Given the description of an element on the screen output the (x, y) to click on. 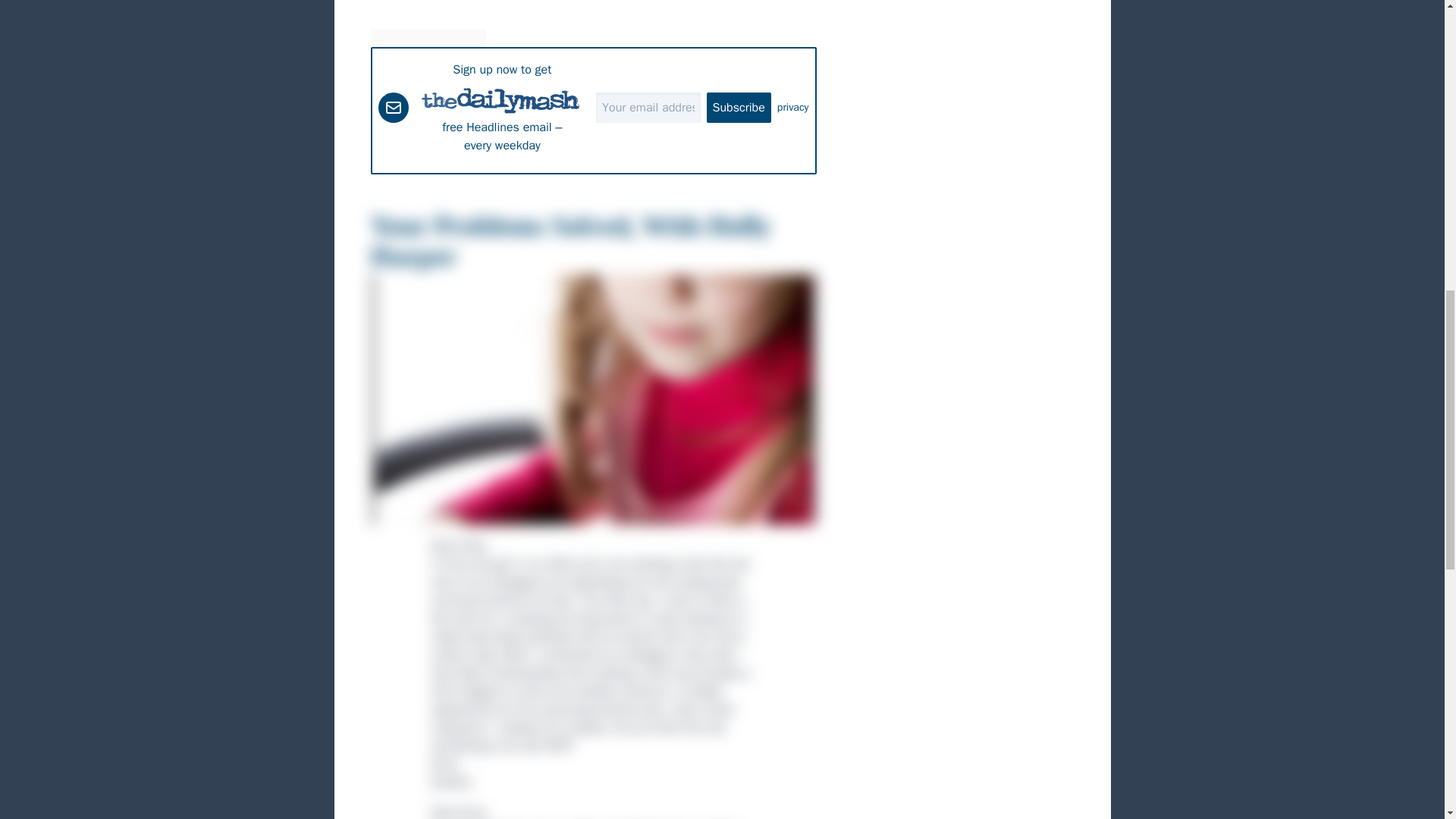
Subscribe (738, 107)
privacy (793, 107)
